Given the description of an element on the screen output the (x, y) to click on. 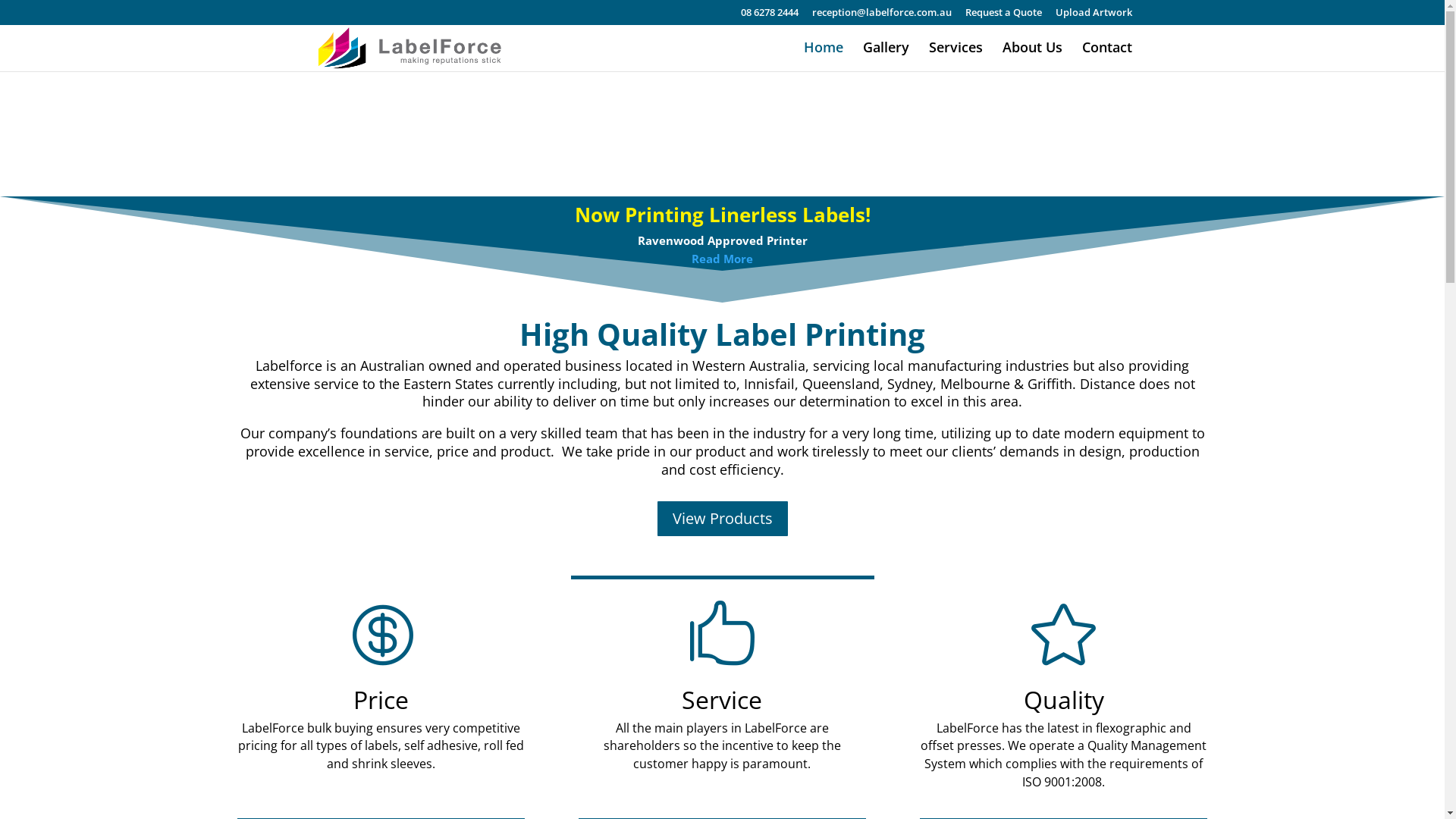
About Us Element type: text (1032, 56)
Gallery Element type: text (885, 56)
Services Element type: text (955, 56)
Read More Element type: text (722, 258)
Home Element type: text (823, 56)
View Products Element type: text (721, 518)
Request a Quote Element type: text (1002, 16)
Contact Element type: text (1106, 56)
reception@labelforce.com.au Element type: text (880, 16)
08 6278 2444 Element type: text (768, 16)
Upload Artwork Element type: text (1093, 16)
